Given the description of an element on the screen output the (x, y) to click on. 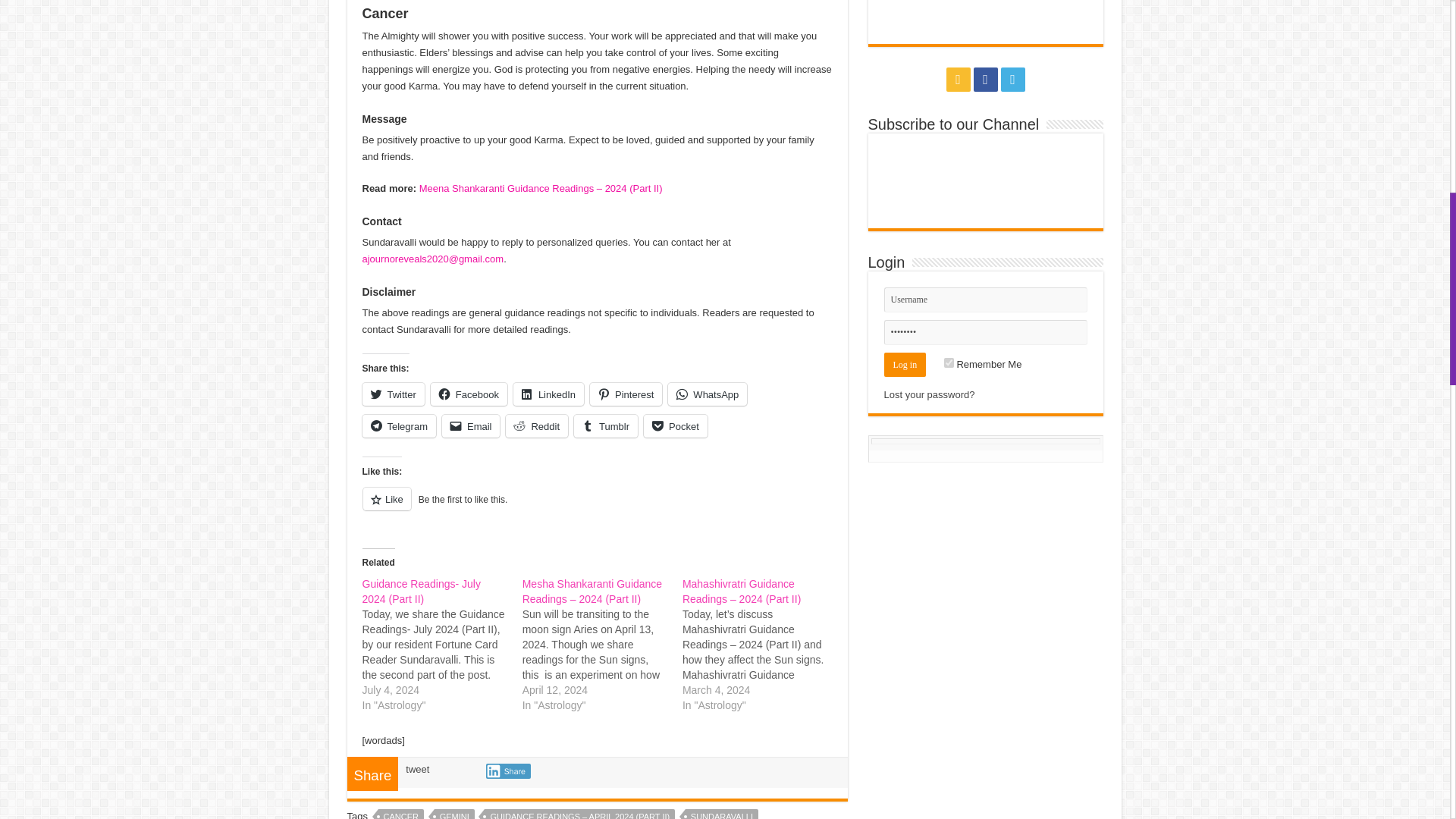
Username (985, 299)
Log in (904, 364)
Password (985, 332)
forever (948, 362)
